Given the description of an element on the screen output the (x, y) to click on. 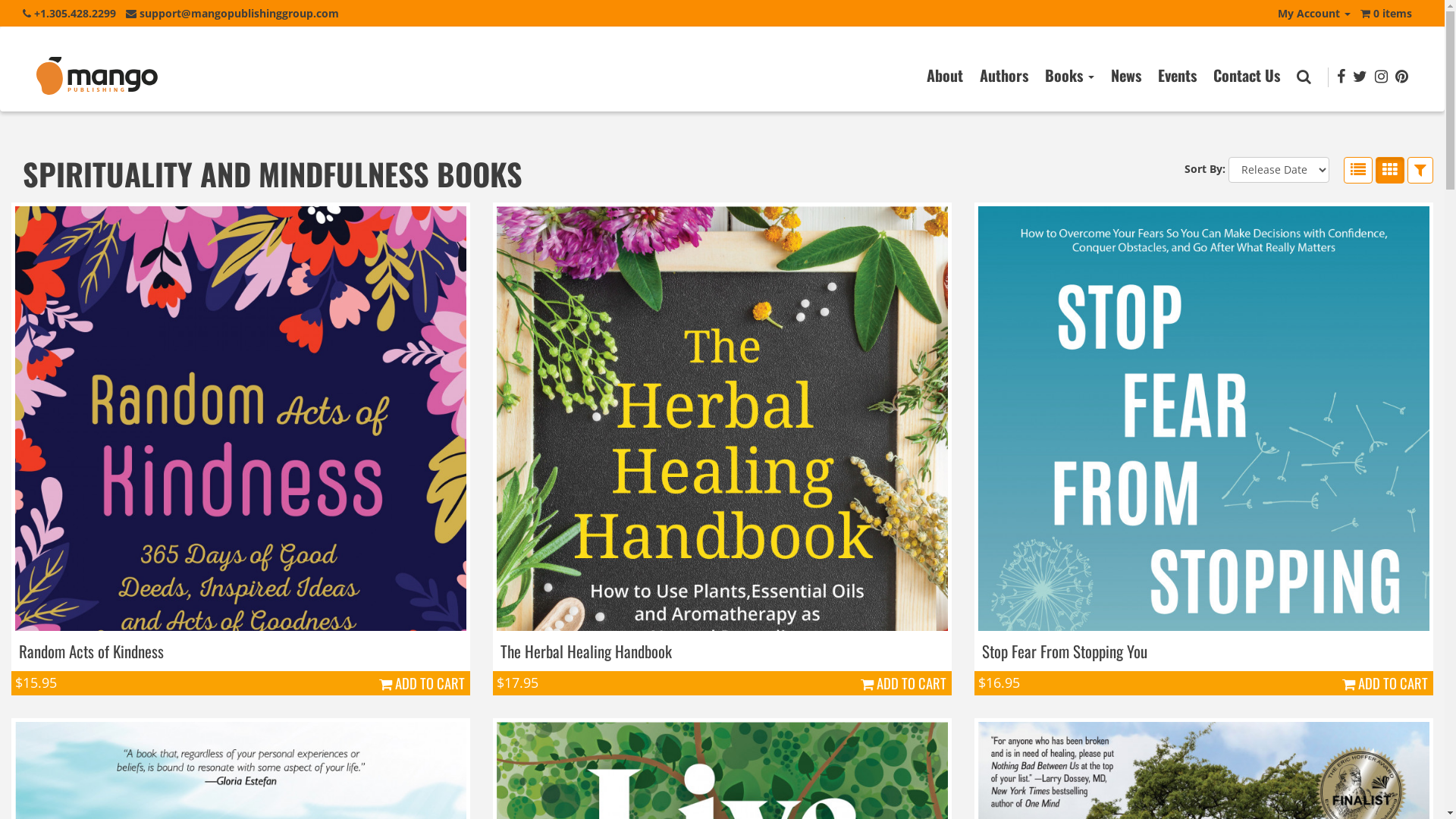
The Herbal Healing Handbook Element type: text (585, 650)
News Element type: text (1125, 74)
ADD TO CART Element type: text (903, 683)
Contact Us Element type: text (1246, 74)
Random Acts of Kindness Element type: text (90, 650)
About Element type: text (944, 74)
Stop Fear From Stopping You Element type: text (1064, 650)
ADD TO CART Element type: text (421, 683)
ADD TO CART Element type: text (1384, 683)
0 items Element type: text (1386, 16)
Events Element type: text (1176, 74)
My Account Element type: text (1313, 13)
Authors Element type: text (1003, 74)
support@mangopublishinggroup.com Element type: text (231, 16)
Books Element type: text (1069, 74)
